Given the description of an element on the screen output the (x, y) to click on. 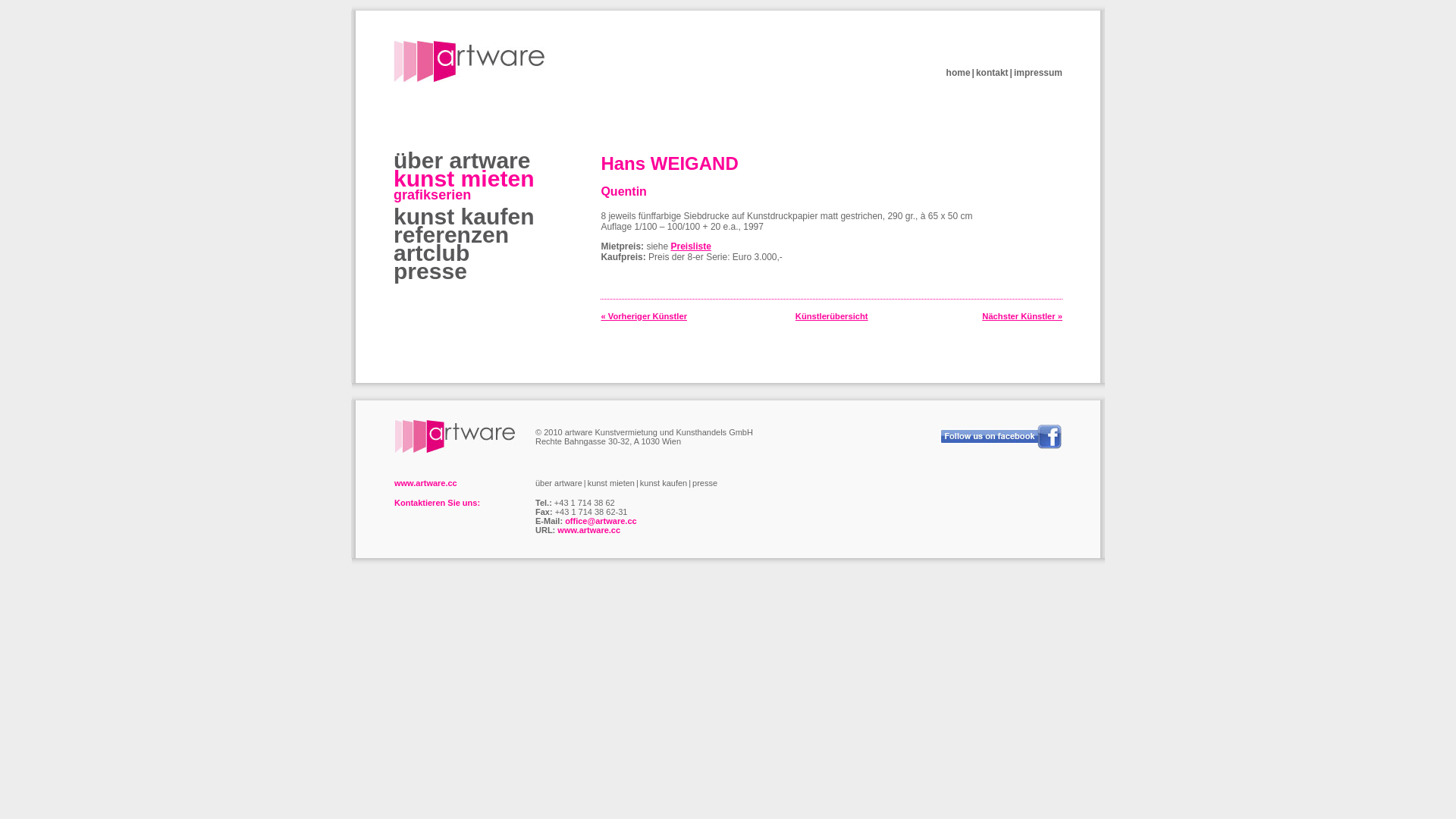
office@artware.cc Element type: text (600, 520)
kunst kaufen Element type: text (463, 216)
referenzen Element type: text (450, 234)
kunst mieten Element type: text (463, 178)
kunst kaufen Element type: text (663, 482)
kontakt Element type: text (991, 72)
grafikserien Element type: text (431, 194)
artclub Element type: text (431, 252)
presse Element type: text (704, 482)
kunst mieten Element type: text (610, 482)
presse Element type: text (430, 270)
impressum Element type: text (1037, 72)
www.artware.cc Element type: text (588, 529)
home Element type: text (958, 72)
Preisliste Element type: text (690, 246)
